Given the description of an element on the screen output the (x, y) to click on. 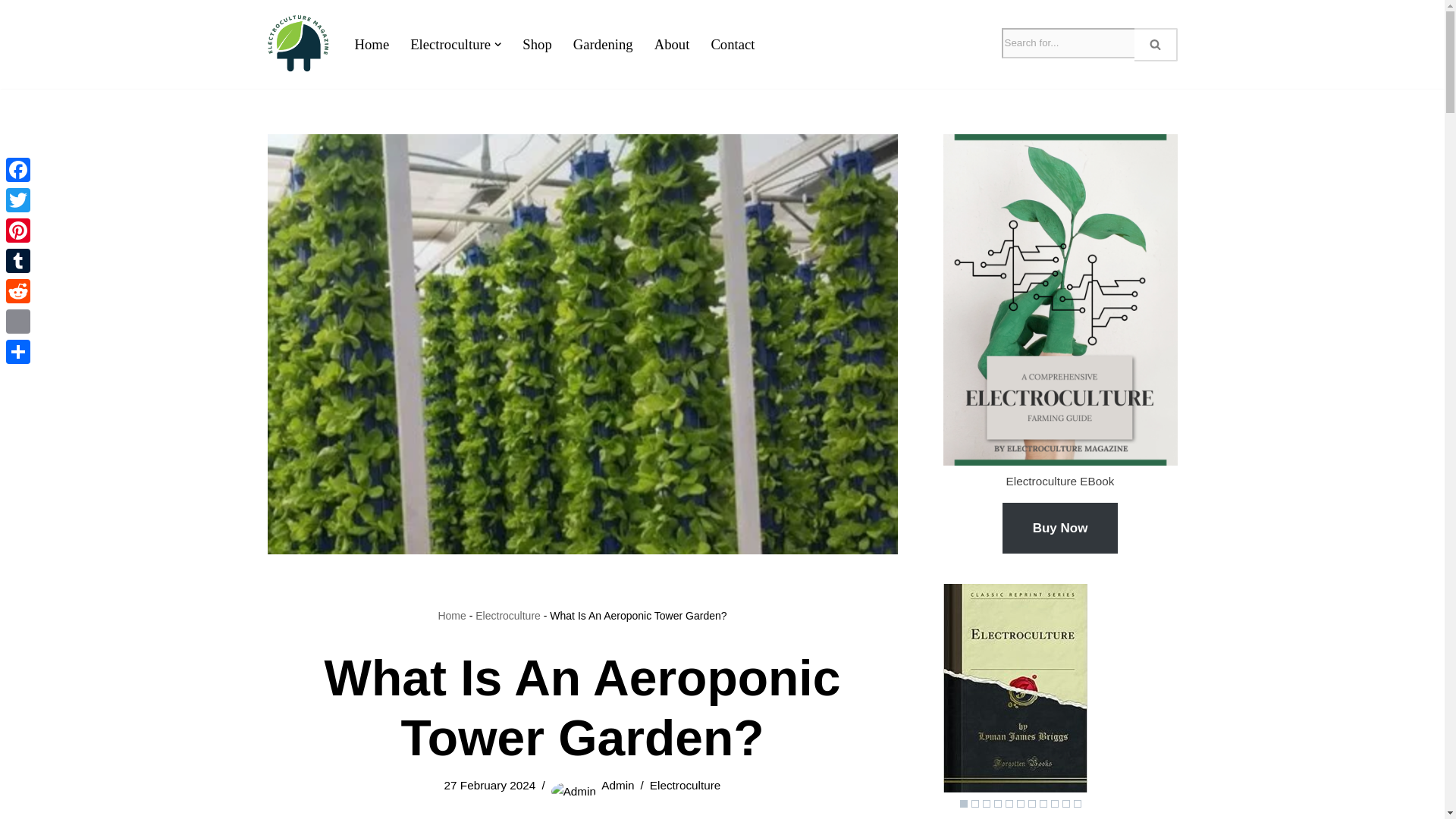
Shop (536, 44)
Electroculture (450, 44)
Gardening (603, 44)
Admin (617, 784)
Electroculture (684, 784)
Home (372, 44)
Contact (732, 44)
About (671, 44)
Electroculture (508, 615)
